Given the description of an element on the screen output the (x, y) to click on. 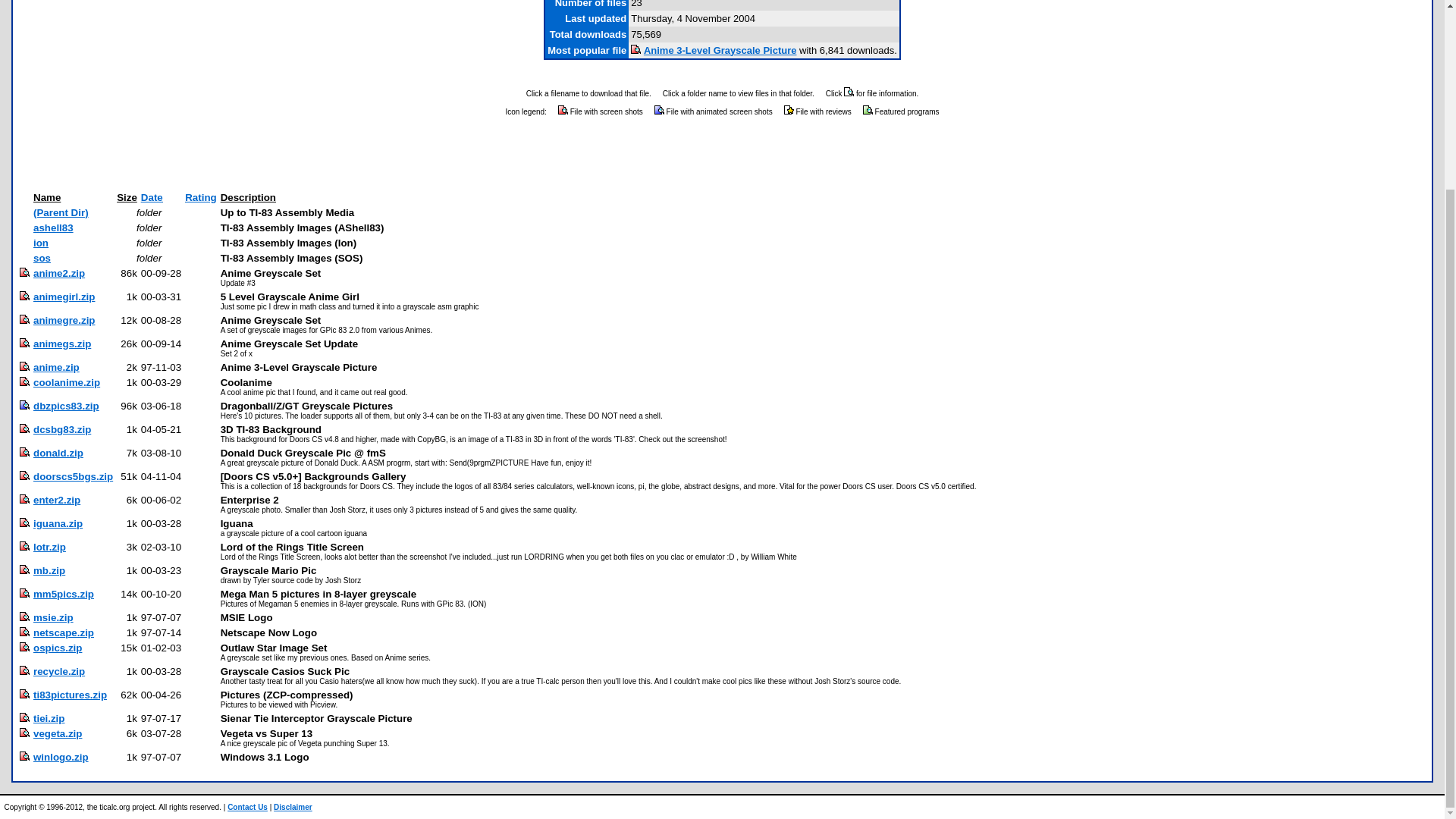
animegs.zip (61, 343)
ion (40, 242)
Date (152, 197)
Advertisement (721, 154)
anime.zip (56, 367)
donald.zip (57, 452)
Anime 3-Level Grayscale Picture (719, 49)
dcsbg83.zip (61, 429)
dbzpics83.zip (66, 405)
sos (41, 257)
animegirl.zip (63, 296)
animegre.zip (63, 319)
coolanime.zip (66, 382)
ashell83 (53, 227)
Rating (199, 197)
